Given the description of an element on the screen output the (x, y) to click on. 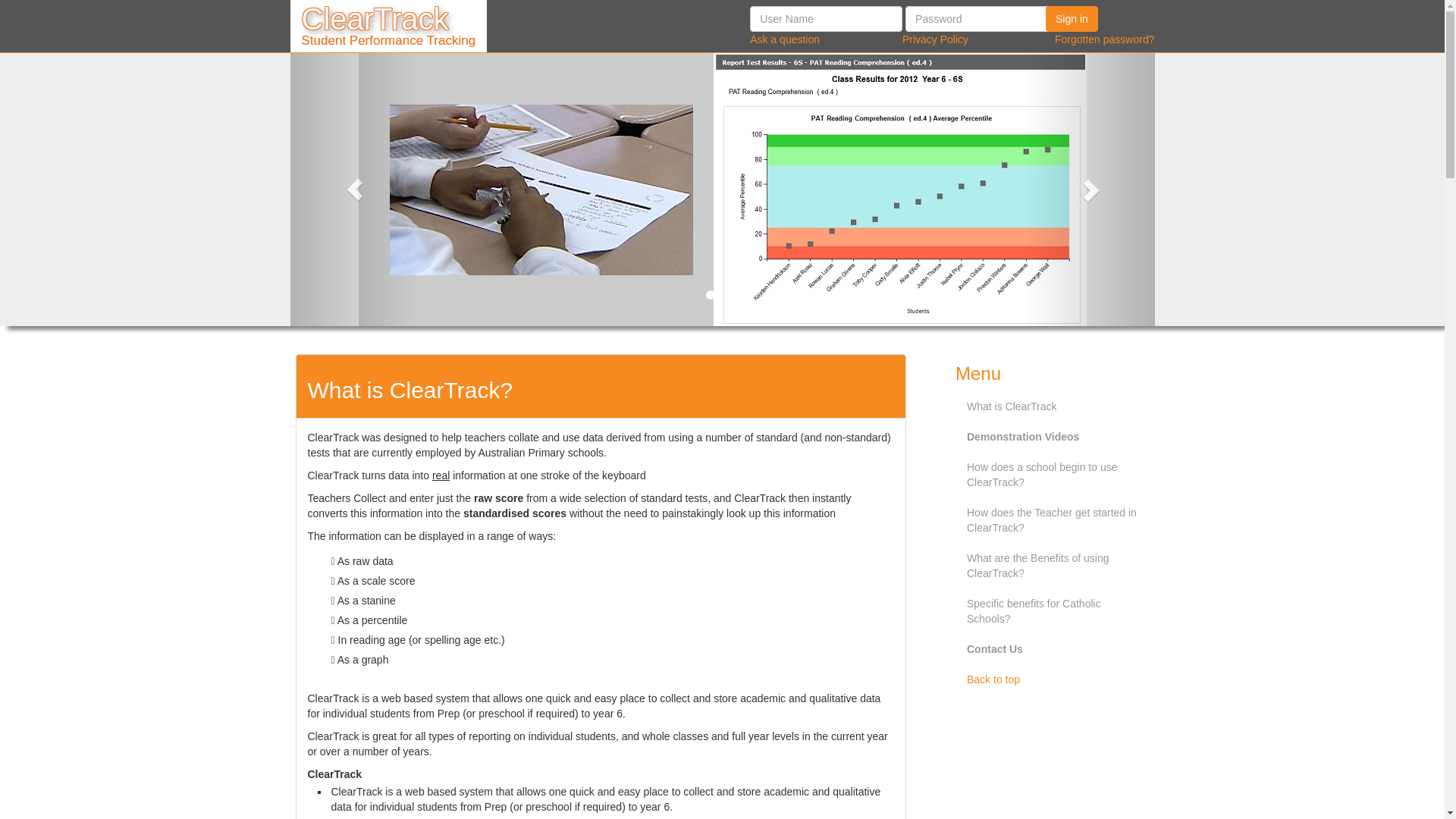
Demonstration Videos Element type: text (1054, 436)
What are the Benefits of using ClearTrack? Element type: text (1054, 565)
Privacy Policy Element type: text (935, 39)
What is ClearTrack Element type: text (1054, 406)
How does a school begin to use ClearTrack? Element type: text (1054, 474)
ClearTrack
Student Performance Tracking Element type: text (387, 26)
How does the Teacher get started in ClearTrack? Element type: text (1054, 519)
Back to top Element type: text (1054, 679)
Contact Us Element type: text (1054, 648)
Forgotten password? Element type: text (1104, 39)
Next Element type: text (1089, 189)
Ask a question Element type: text (784, 39)
Previous Element type: text (354, 189)
Sign in Element type: text (1071, 18)
Specific benefits for Catholic Schools? Element type: text (1054, 610)
